Given the description of an element on the screen output the (x, y) to click on. 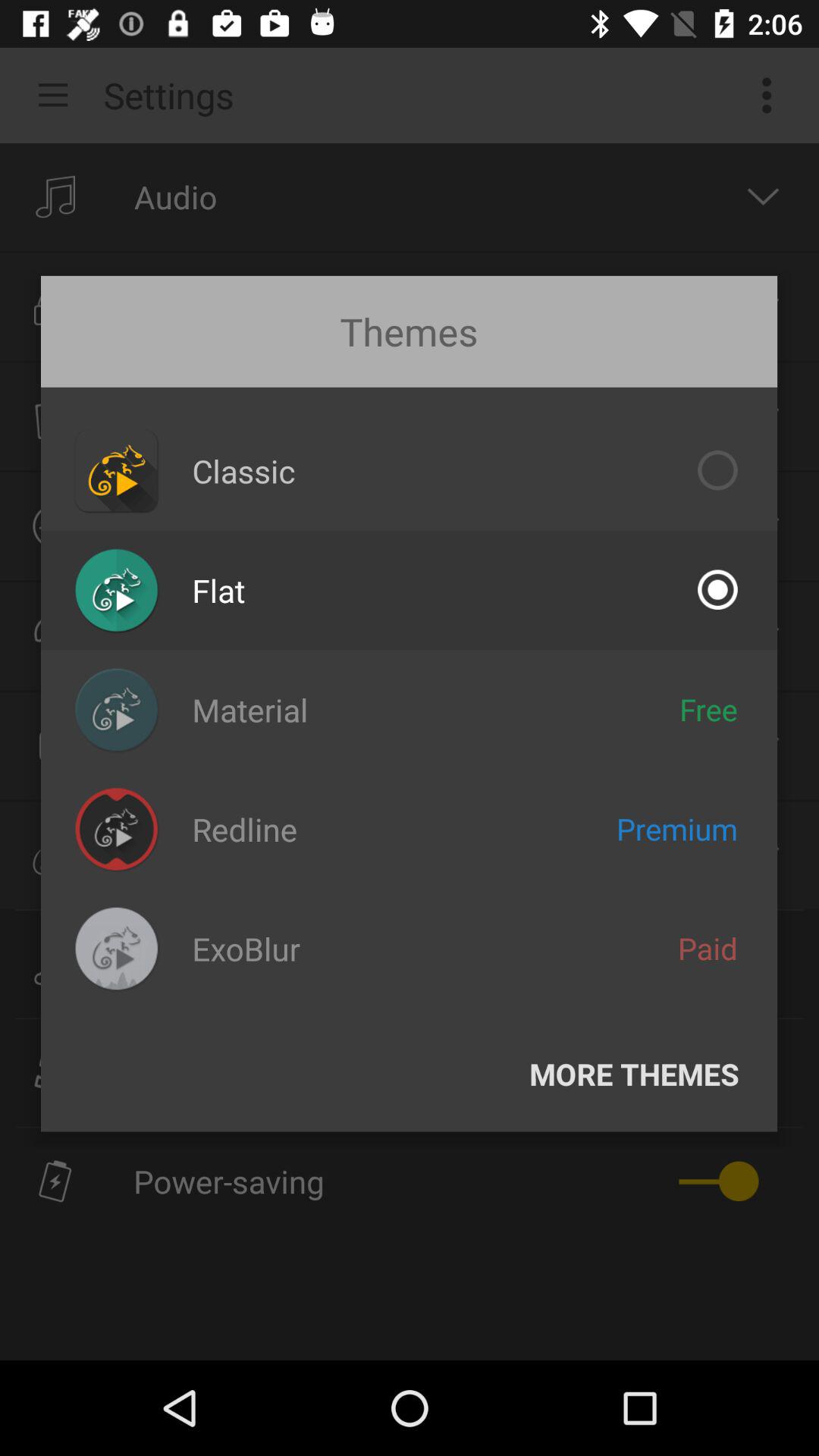
select the item to the left of premium item (244, 828)
